Given the description of an element on the screen output the (x, y) to click on. 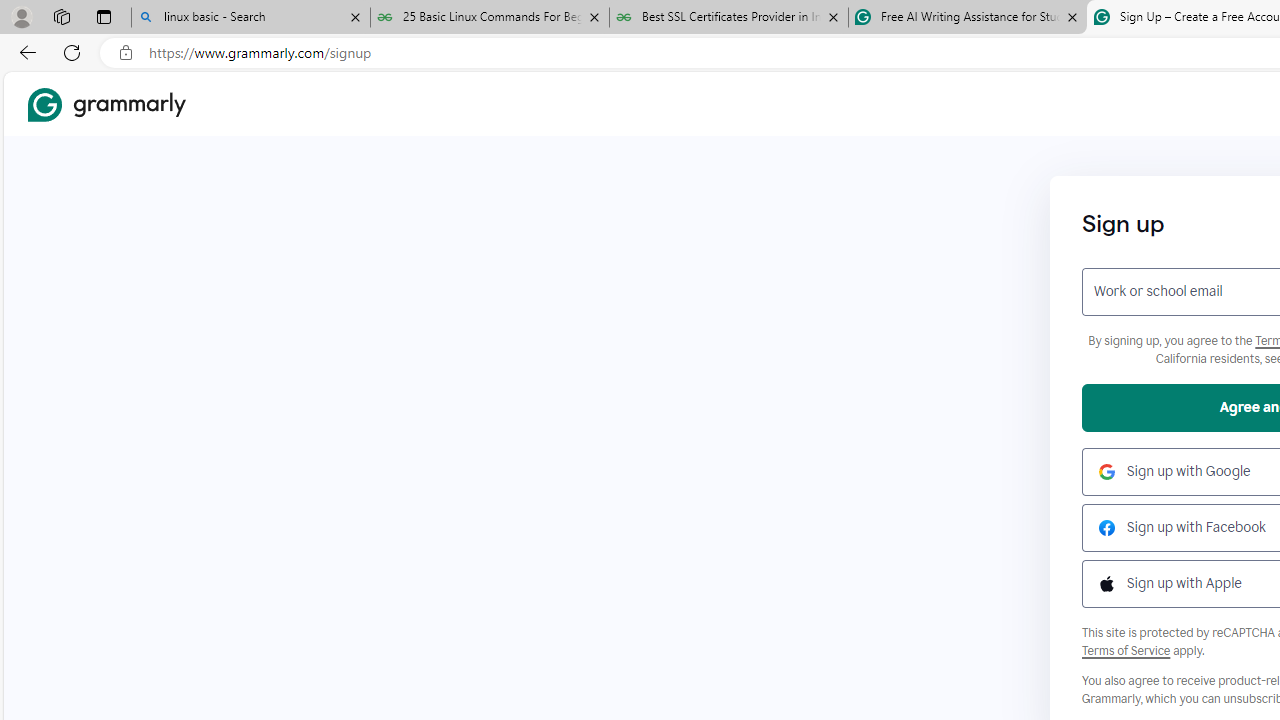
25 Basic Linux Commands For Beginners - GeeksforGeeks (490, 17)
Best SSL Certificates Provider in India - GeeksforGeeks (729, 17)
Google Terms of Service (1126, 650)
Grammarly Home (106, 104)
linux basic - Search (250, 17)
Free AI Writing Assistance for Students | Grammarly (967, 17)
Grammarly Home (106, 103)
